Given the description of an element on the screen output the (x, y) to click on. 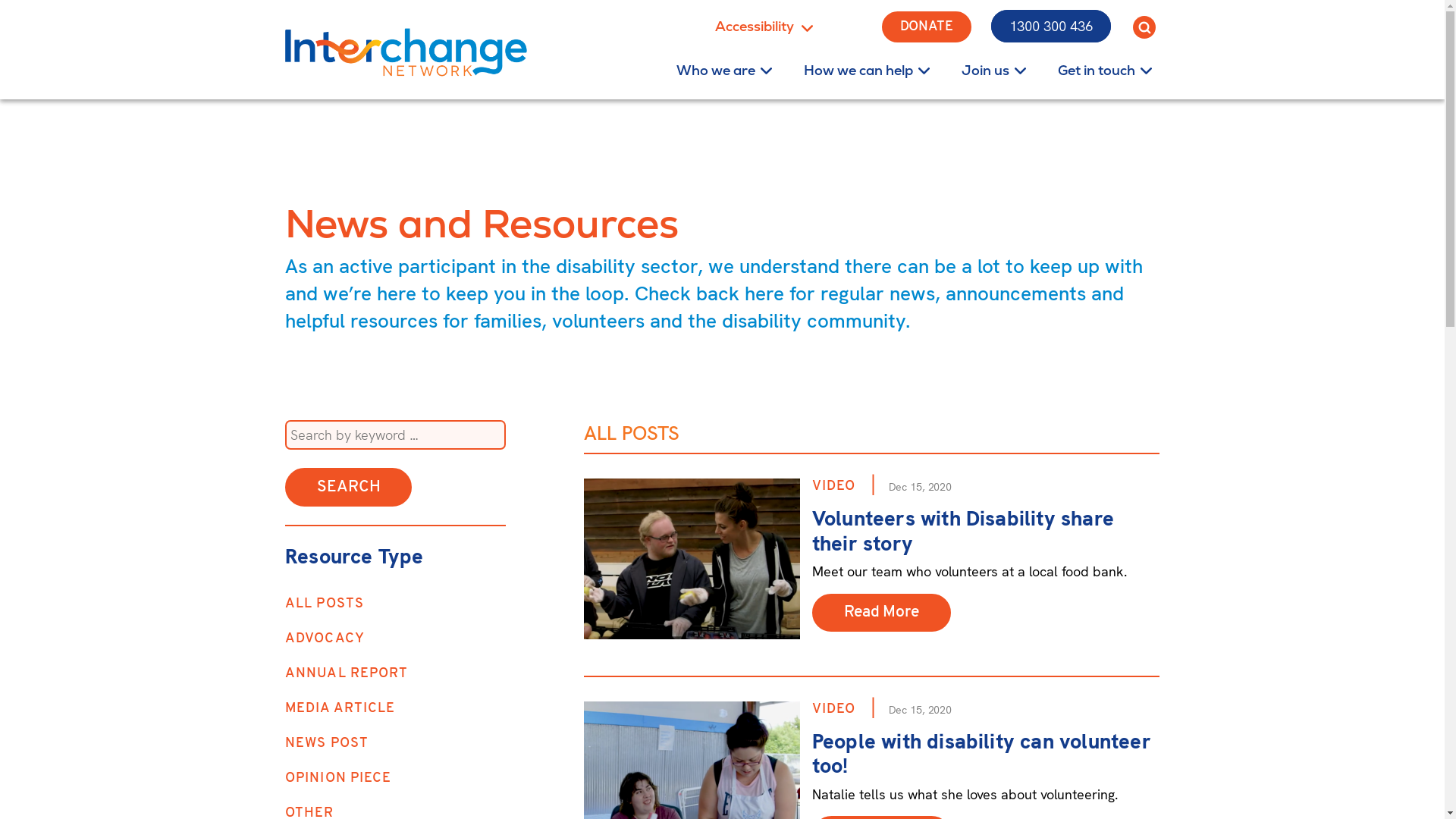
open search modal Element type: hover (1144, 26)
Interchange Network Element type: hover (406, 52)
ALL POSTS Element type: text (324, 603)
Get in touch Element type: text (1096, 70)
NEWS POST Element type: text (326, 743)
DONATE Element type: text (926, 25)
1300 300 436 Element type: text (1050, 25)
Accessibility Element type: text (775, 26)
OPINION PIECE Element type: text (338, 778)
Search Element type: text (348, 486)
How we can help Element type: text (858, 70)
MEDIA ARTICLE Element type: text (340, 708)
ANNUAL REPORT Element type: text (346, 673)
ADVOCACY Element type: text (324, 638)
Who we are Element type: text (715, 70)
Join us Element type: text (985, 70)
